Given the description of an element on the screen output the (x, y) to click on. 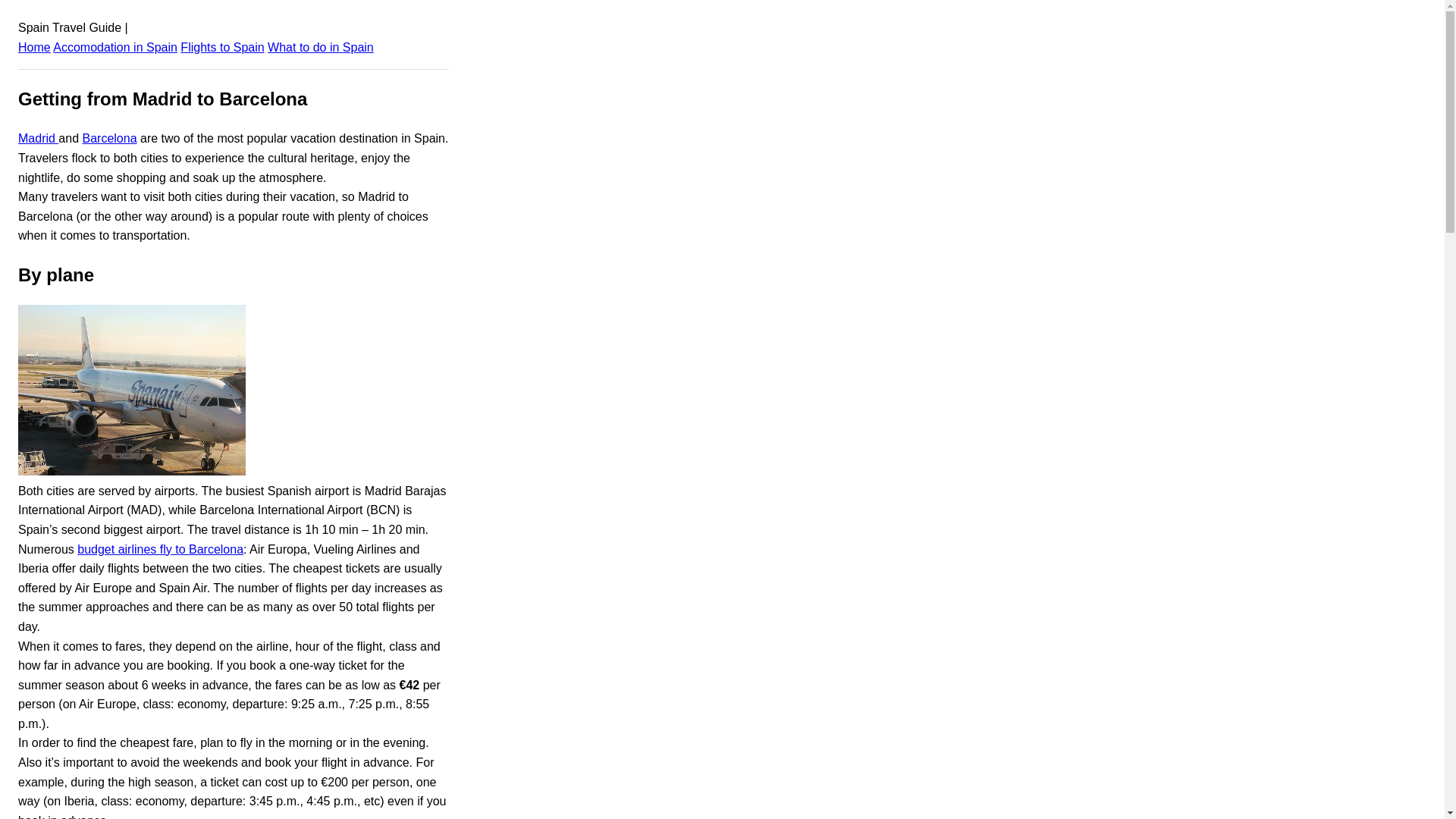
Barcelona (108, 137)
budget airlines fly to Barcelona (160, 549)
Flights to Spain (221, 47)
Home (33, 47)
What to do in Spain (320, 47)
Madrid (37, 137)
Accomodation in Spain (114, 47)
